Given the description of an element on the screen output the (x, y) to click on. 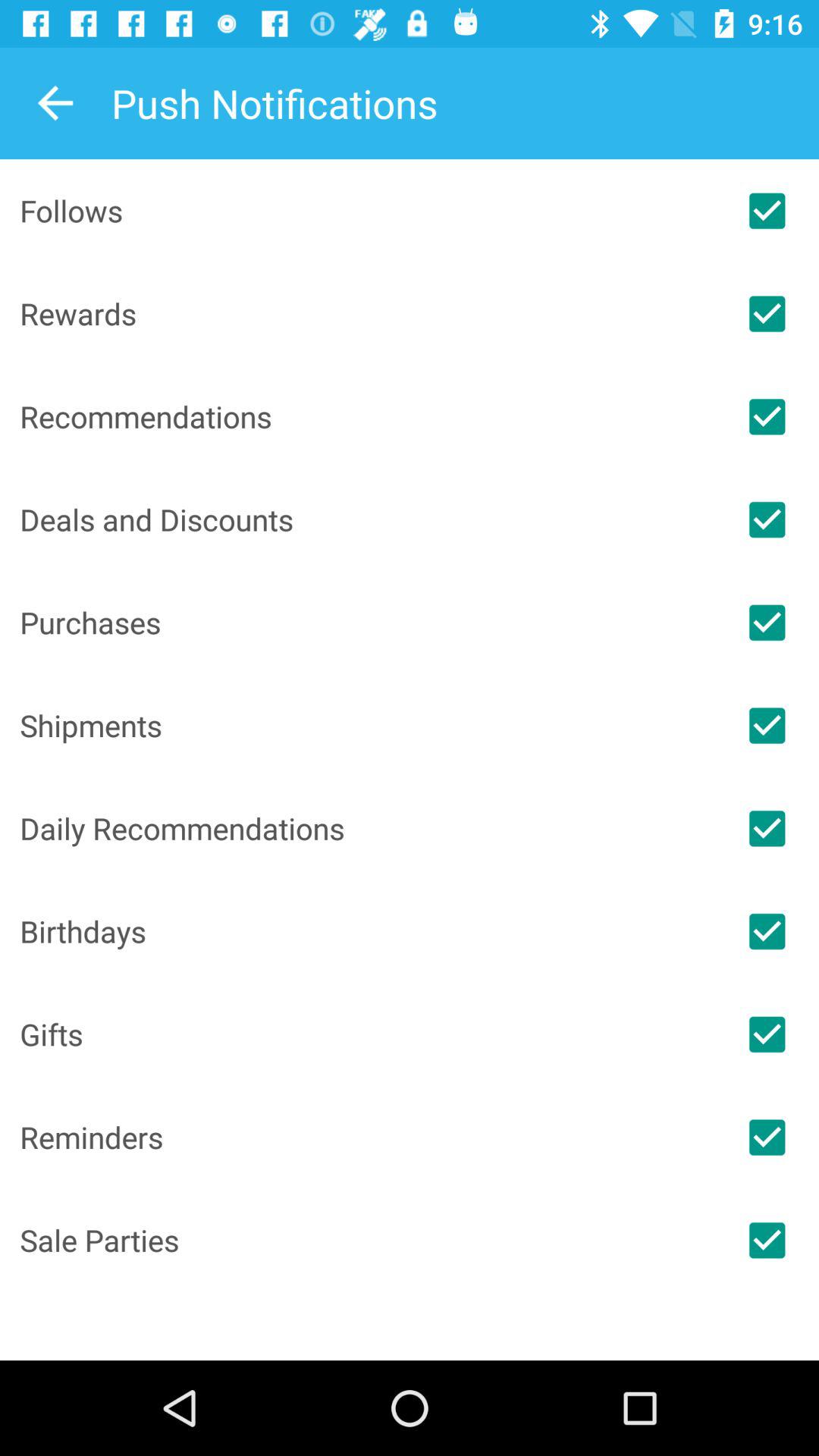
launch icon above purchases (367, 519)
